Given the description of an element on the screen output the (x, y) to click on. 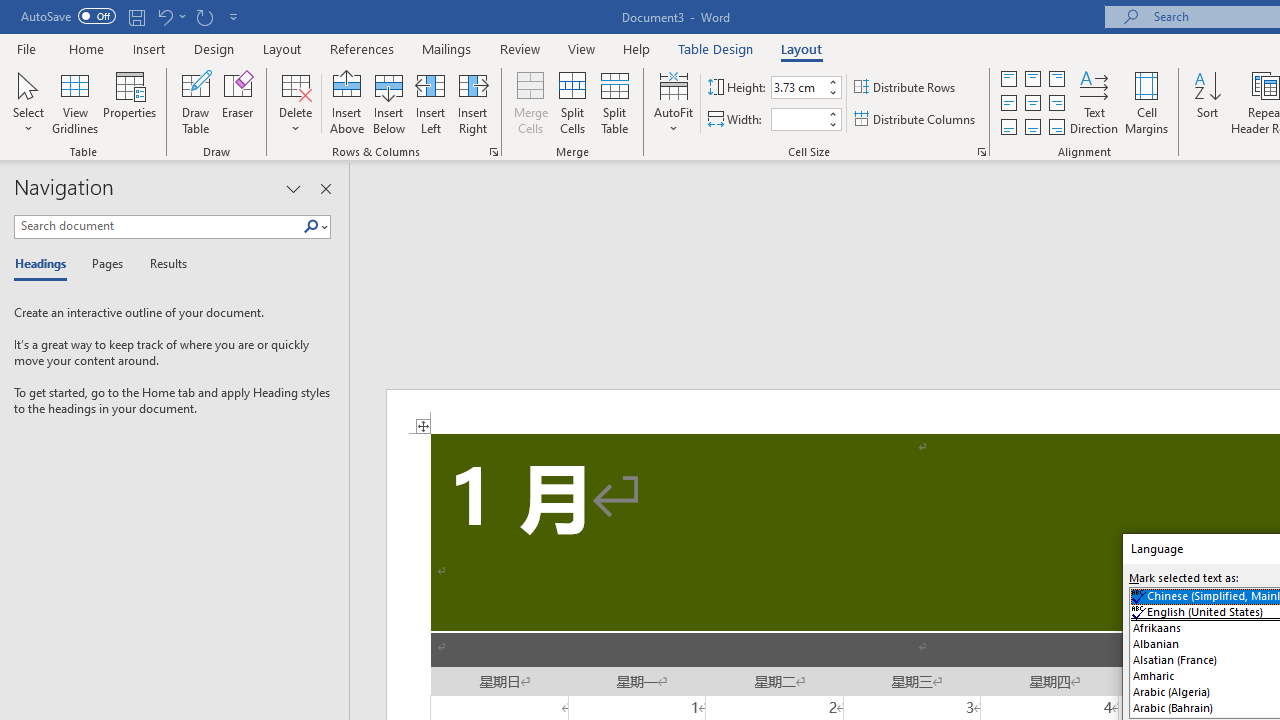
Quick Access Toolbar (131, 16)
Insert Right (472, 102)
Align Top Justified (1009, 78)
AutoSave (68, 16)
Mailings (447, 48)
Insert (149, 48)
Class: NetUIImage (311, 226)
Insert Left (430, 102)
Align Top Center (1032, 78)
Results (161, 264)
Headings (45, 264)
File Tab (26, 48)
Save (136, 15)
Home (86, 48)
